Given the description of an element on the screen output the (x, y) to click on. 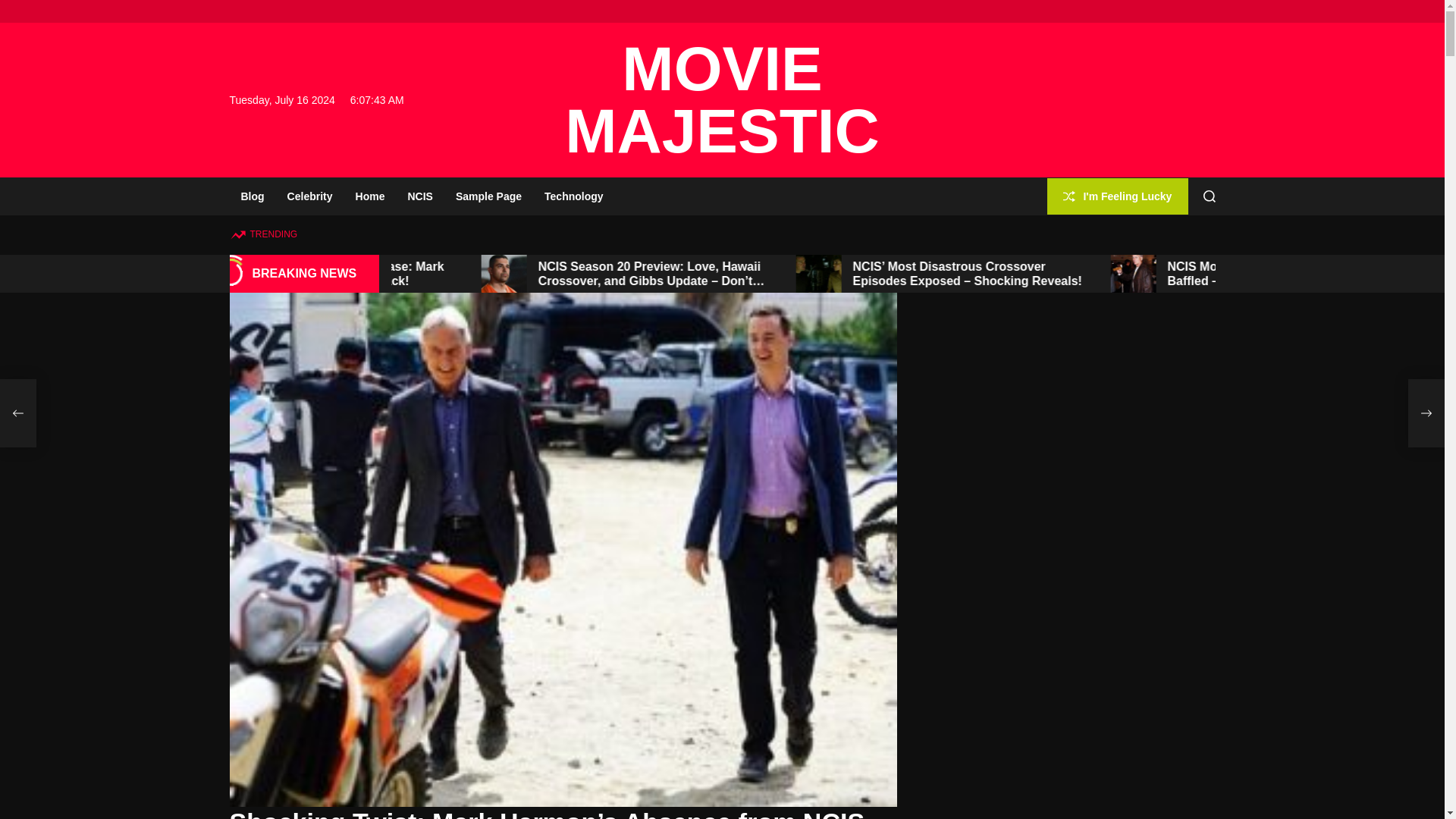
Celebrity (309, 196)
Blog (251, 196)
Home (369, 196)
Technology (573, 196)
Sample Page (488, 196)
MOVIE MAJESTIC (722, 99)
I'm Feeling Lucky (1117, 196)
NCIS (420, 196)
Search (1209, 196)
